Given the description of an element on the screen output the (x, y) to click on. 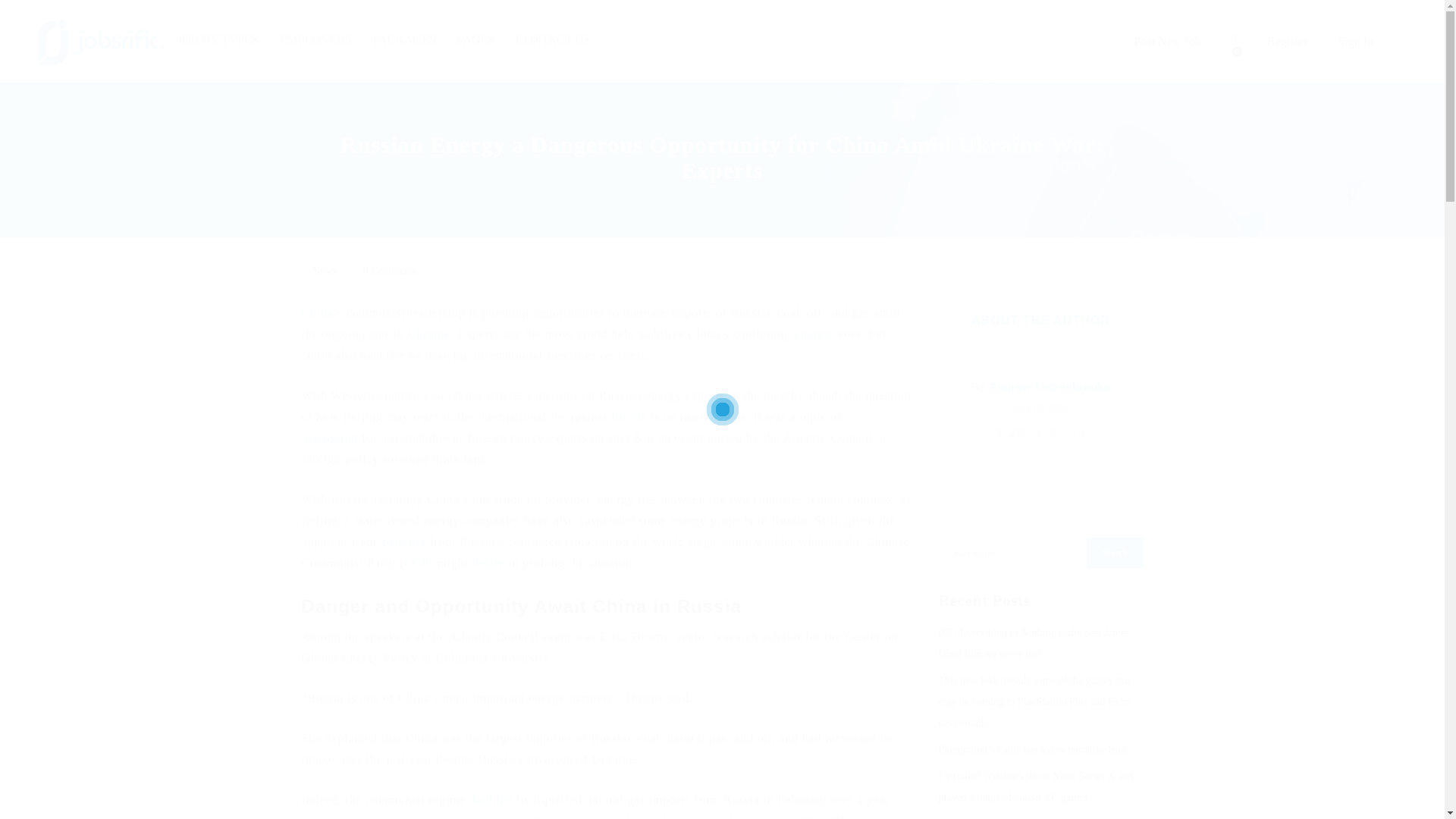
JOB BY TYPES (218, 41)
PACKAGES (403, 41)
Jobsrific (102, 42)
Search (1114, 552)
CONTACT US (552, 41)
EMPLOYERS (315, 41)
Post New Job (1167, 41)
